Given the description of an element on the screen output the (x, y) to click on. 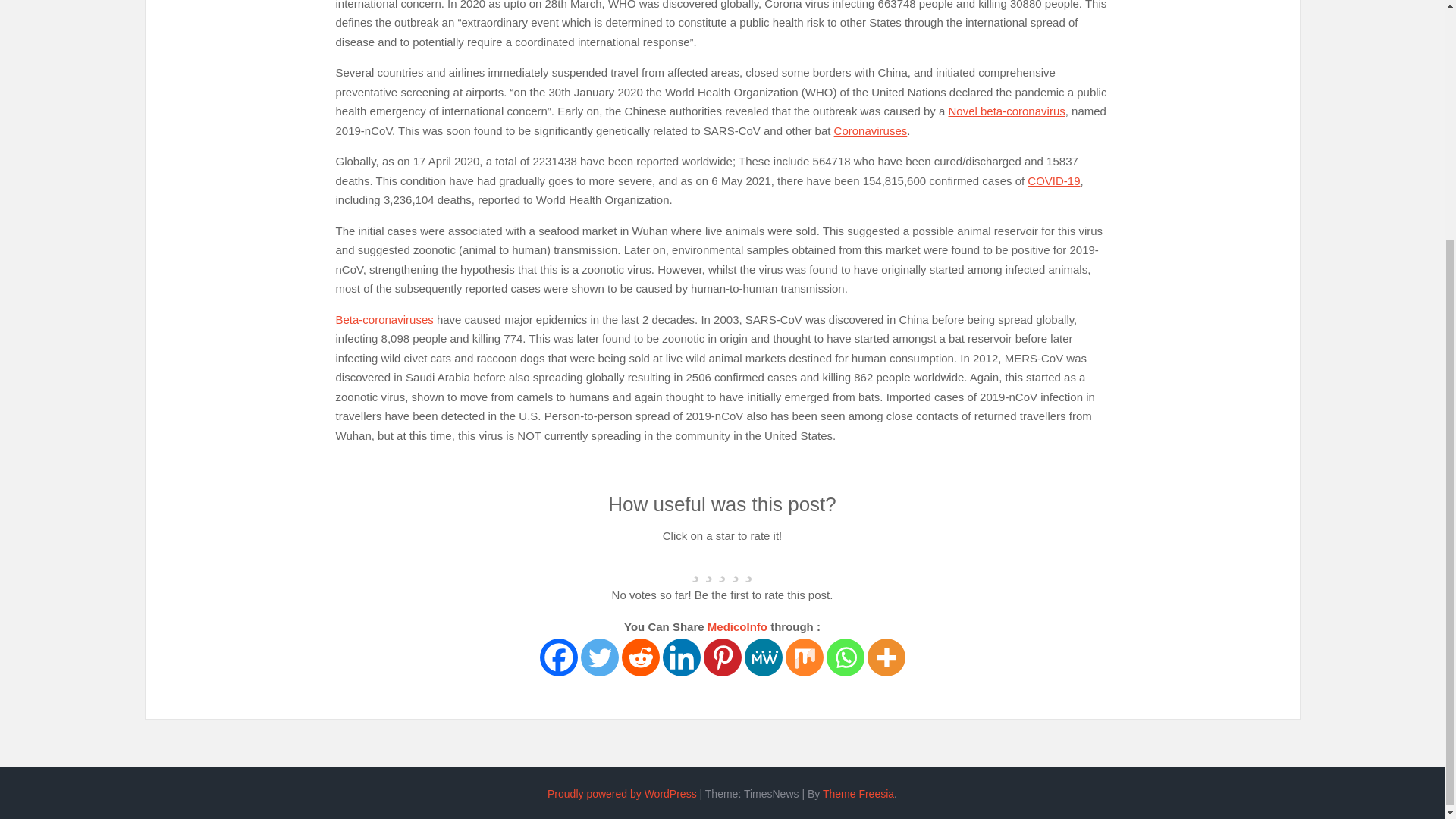
Twitter (599, 657)
Linkedin (681, 657)
Facebook (559, 657)
Reddit (640, 657)
MeWe (763, 657)
Mix (805, 657)
Pinterest (722, 657)
